Given the description of an element on the screen output the (x, y) to click on. 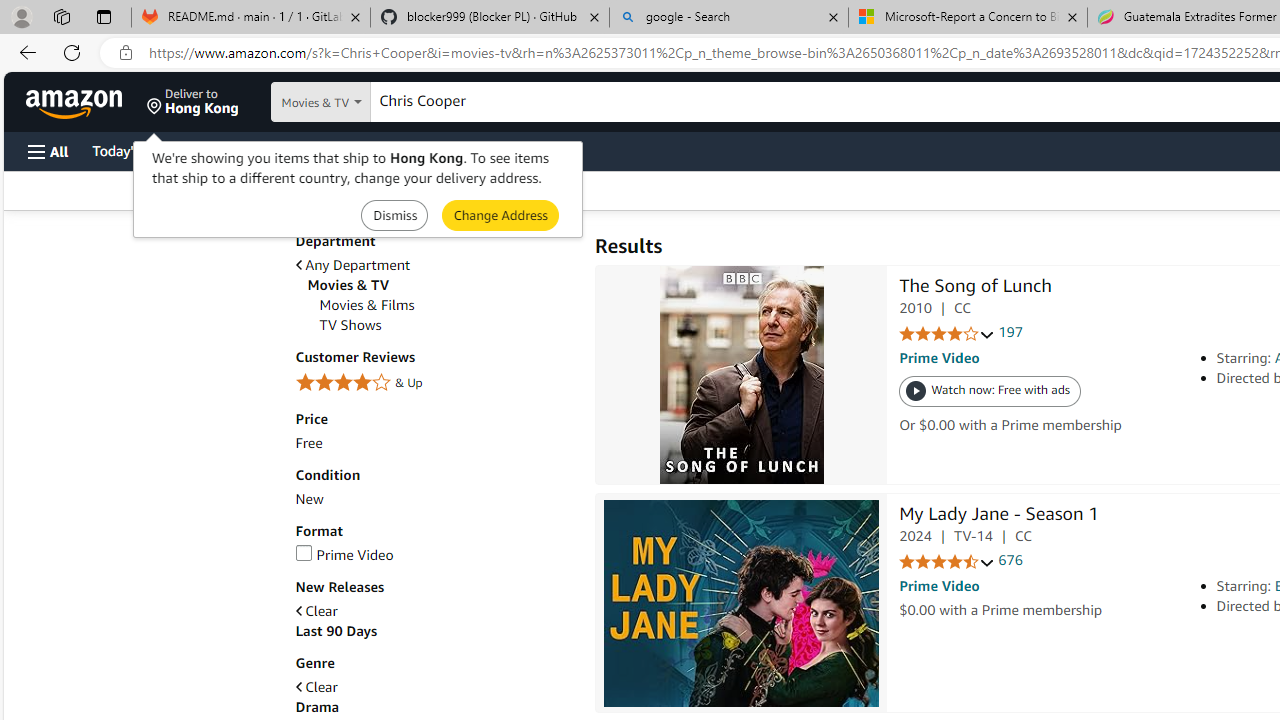
TV Shows (446, 325)
Last 90 Days (335, 631)
Watch now: Free with ads (989, 391)
Free (434, 443)
Movies & Films (366, 305)
The Song of Lunch (975, 287)
Search in (371, 102)
My Lady Jane - Season 1 (998, 516)
676 (1010, 560)
New (434, 499)
Any Department (434, 265)
Prime Video (434, 555)
Change Address (499, 214)
